Given the description of an element on the screen output the (x, y) to click on. 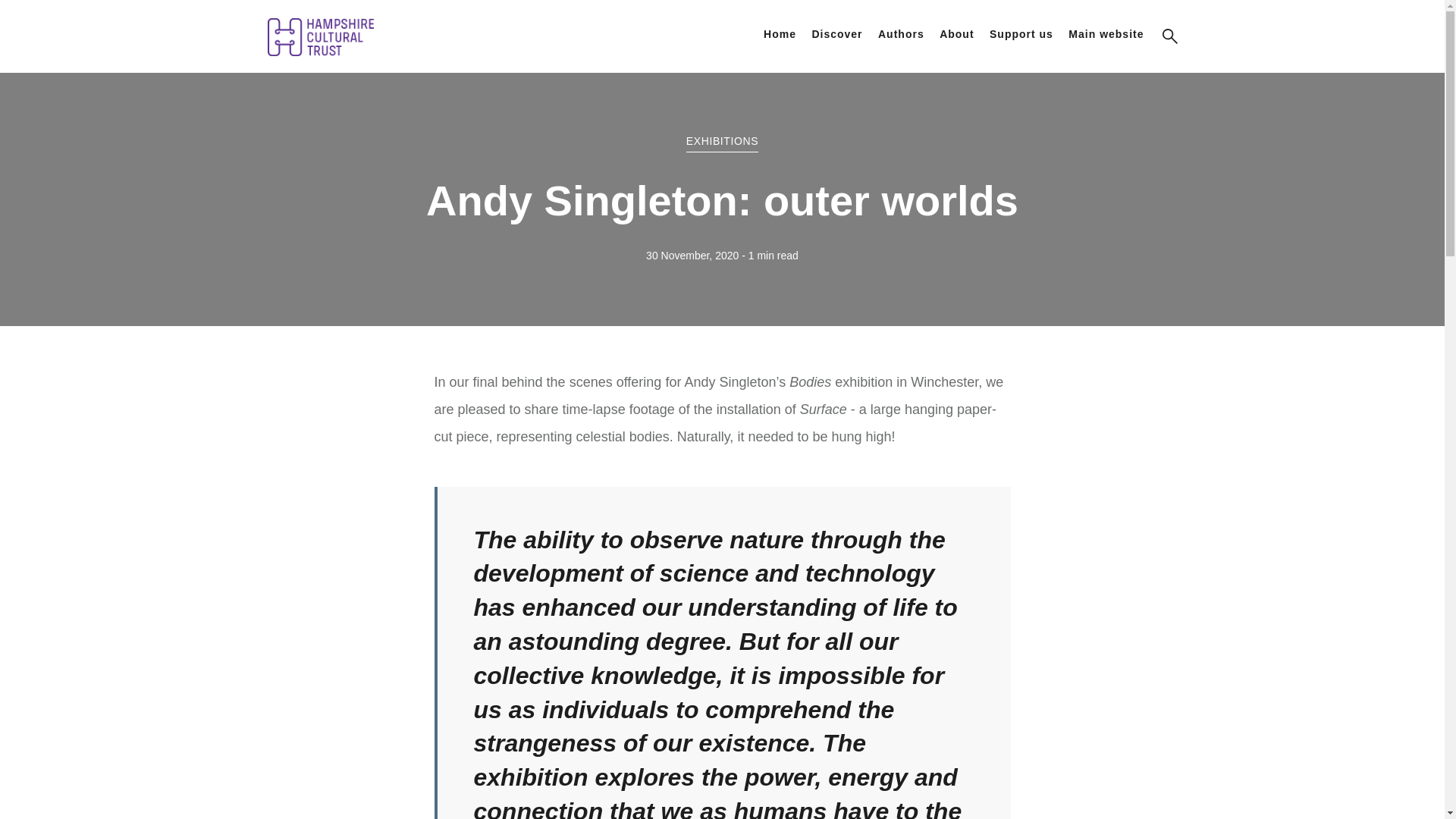
EXHIBITIONS (721, 141)
Support us (1021, 33)
Home (779, 33)
Authors (900, 33)
Discover (835, 33)
About (956, 33)
Main website (1105, 33)
